Given the description of an element on the screen output the (x, y) to click on. 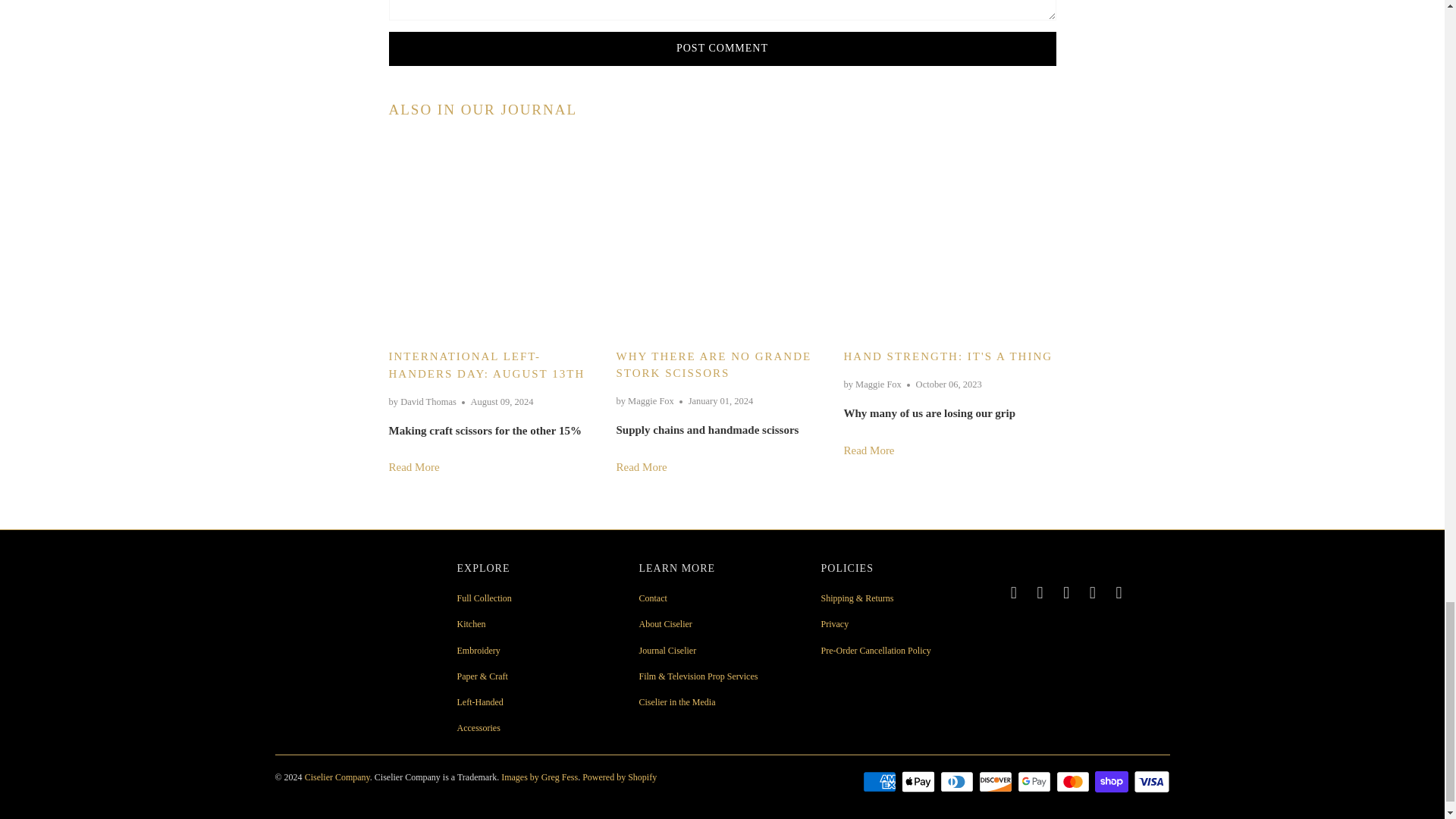
Discover (996, 781)
American Express (881, 781)
Mastercard (1073, 781)
Google Pay (1035, 781)
Apple Pay (919, 781)
Post comment (721, 48)
Visa (1150, 781)
Diners Club (958, 781)
Shop Pay (1112, 781)
